Given the description of an element on the screen output the (x, y) to click on. 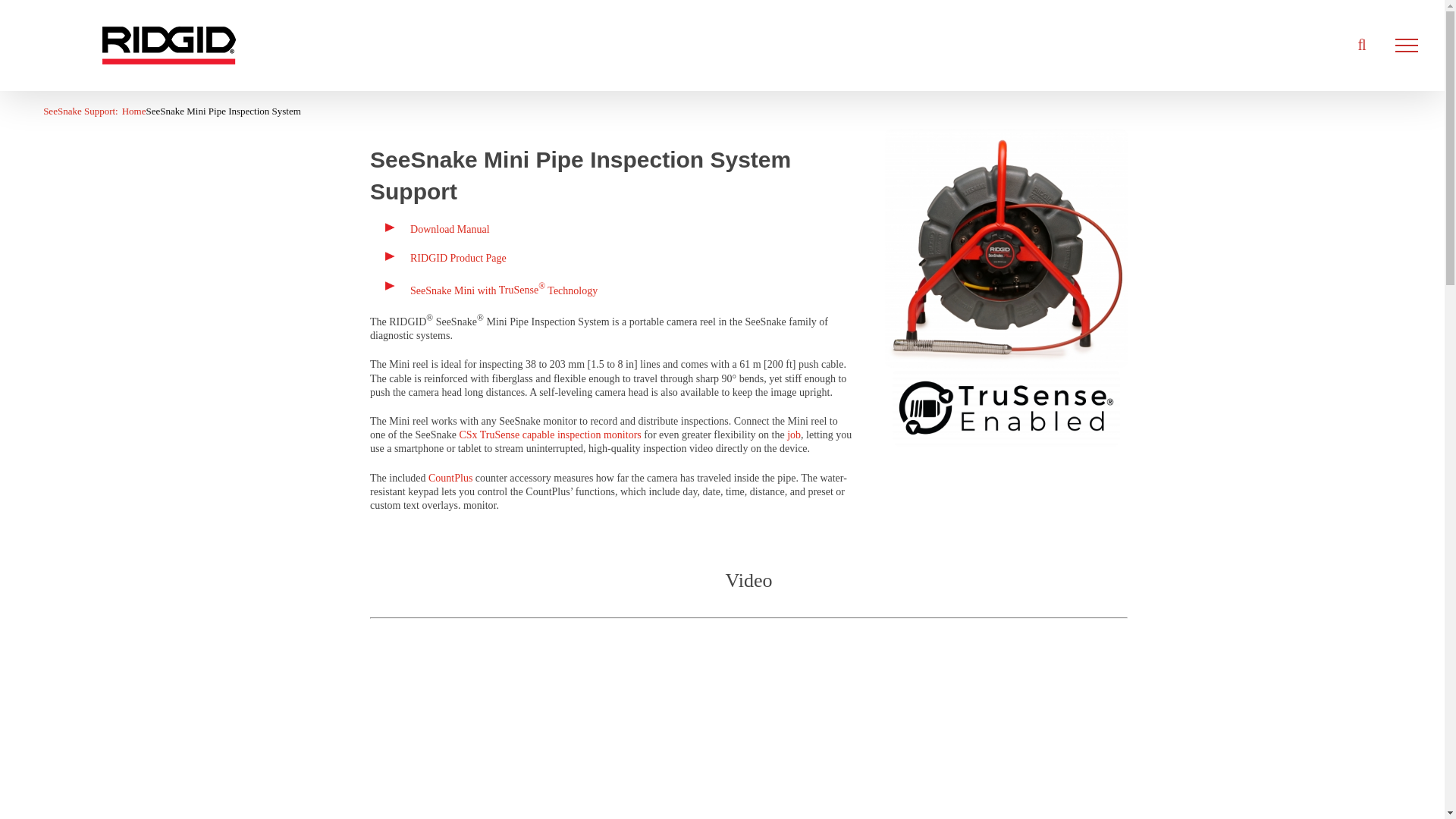
CountPlus  (452, 478)
Home (134, 111)
RIDGID Product Page (458, 257)
YouTube video player 1 (748, 729)
Download Manual (449, 229)
CSx TruSense capable inspection monitors (549, 434)
Help widget launcher (1368, 746)
Video (749, 594)
job (793, 434)
